Given the description of an element on the screen output the (x, y) to click on. 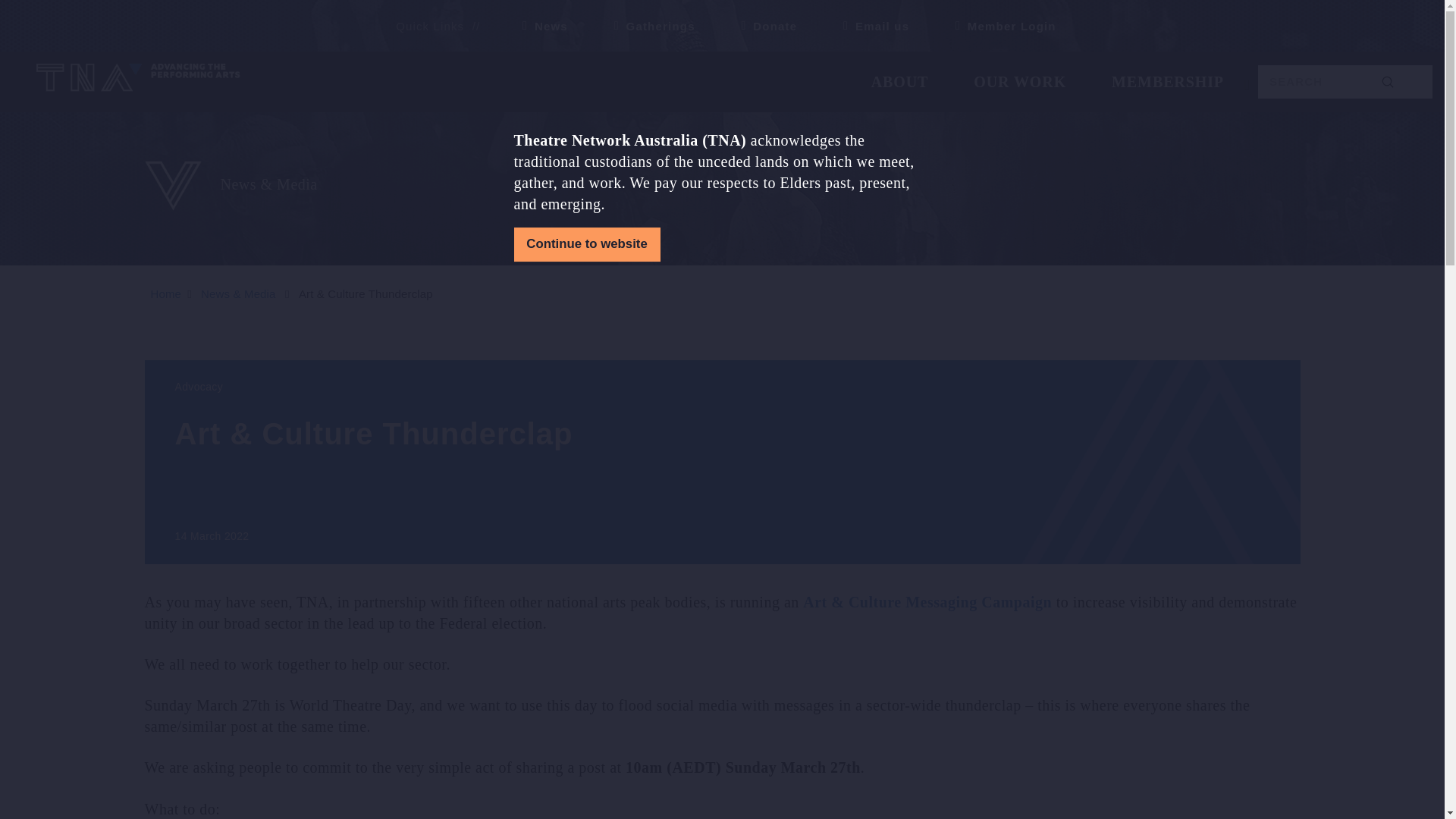
Continue to website (587, 244)
Donate (762, 25)
Gatherings (648, 25)
News (539, 25)
Member Login (999, 25)
Email us (869, 25)
